Given the description of an element on the screen output the (x, y) to click on. 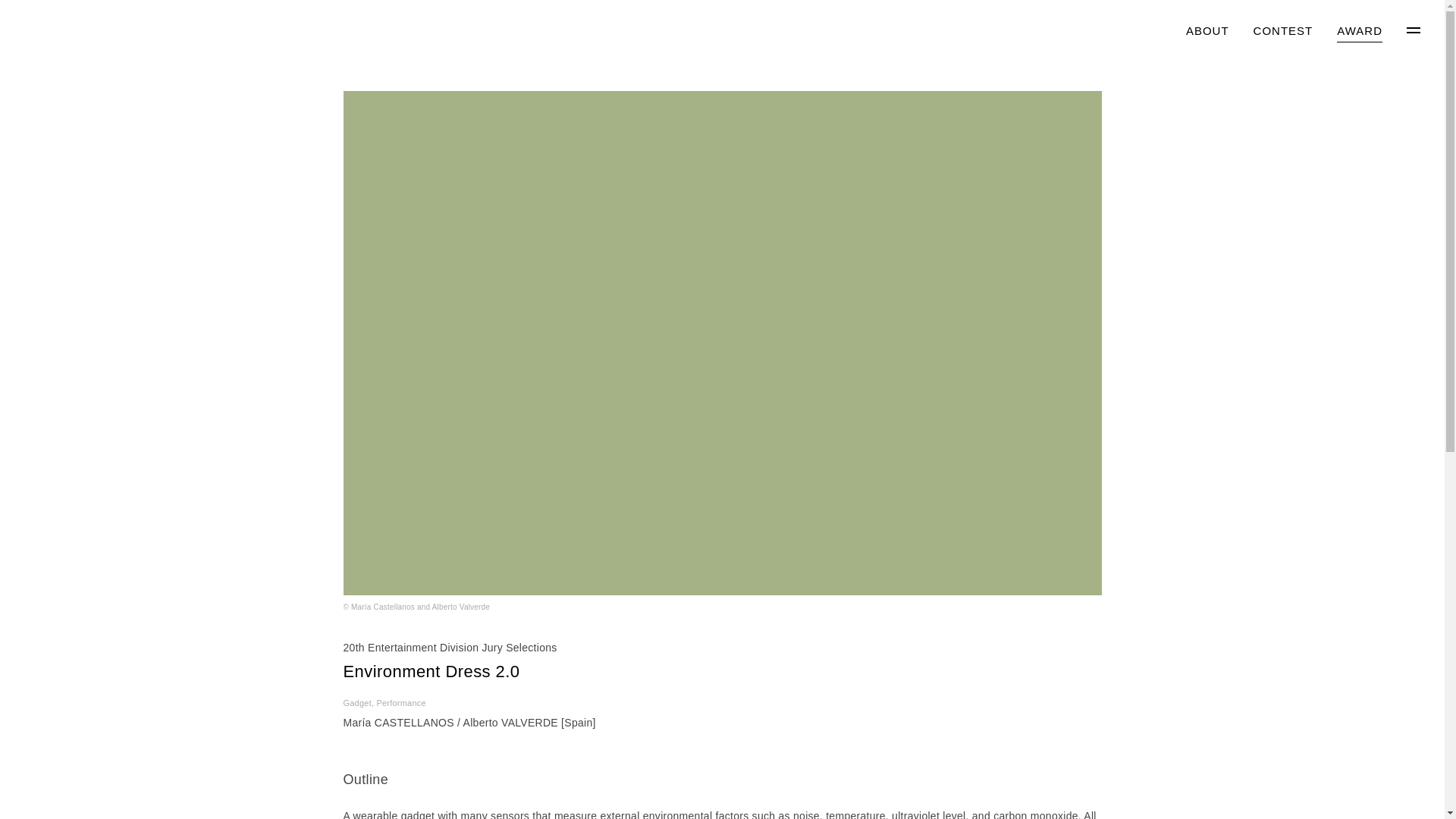
ABOUT (1207, 32)
AWARD (1358, 32)
CONTEST (1283, 32)
